Given the description of an element on the screen output the (x, y) to click on. 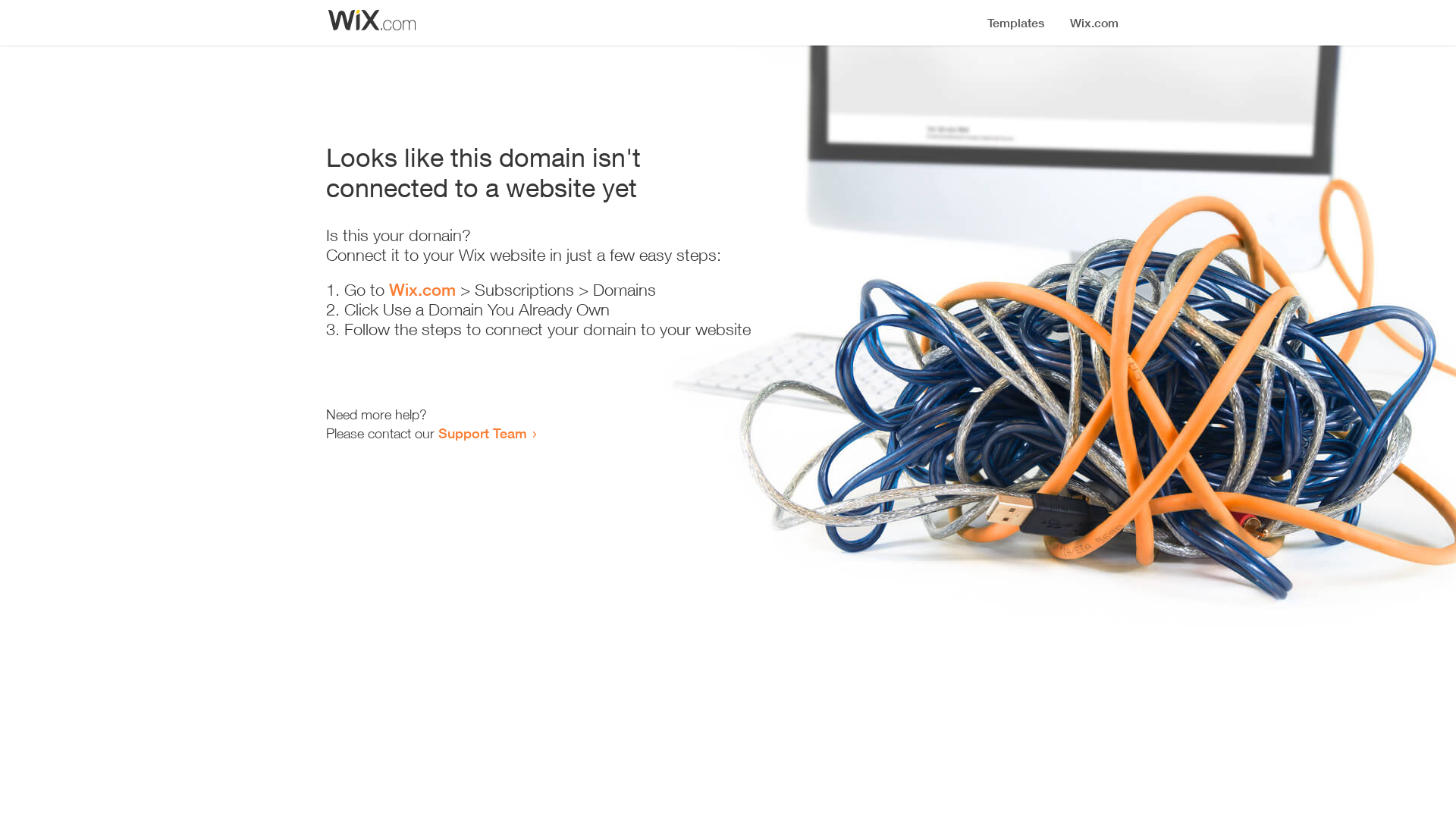
Support Team Element type: text (482, 432)
Wix.com Element type: text (422, 289)
